Given the description of an element on the screen output the (x, y) to click on. 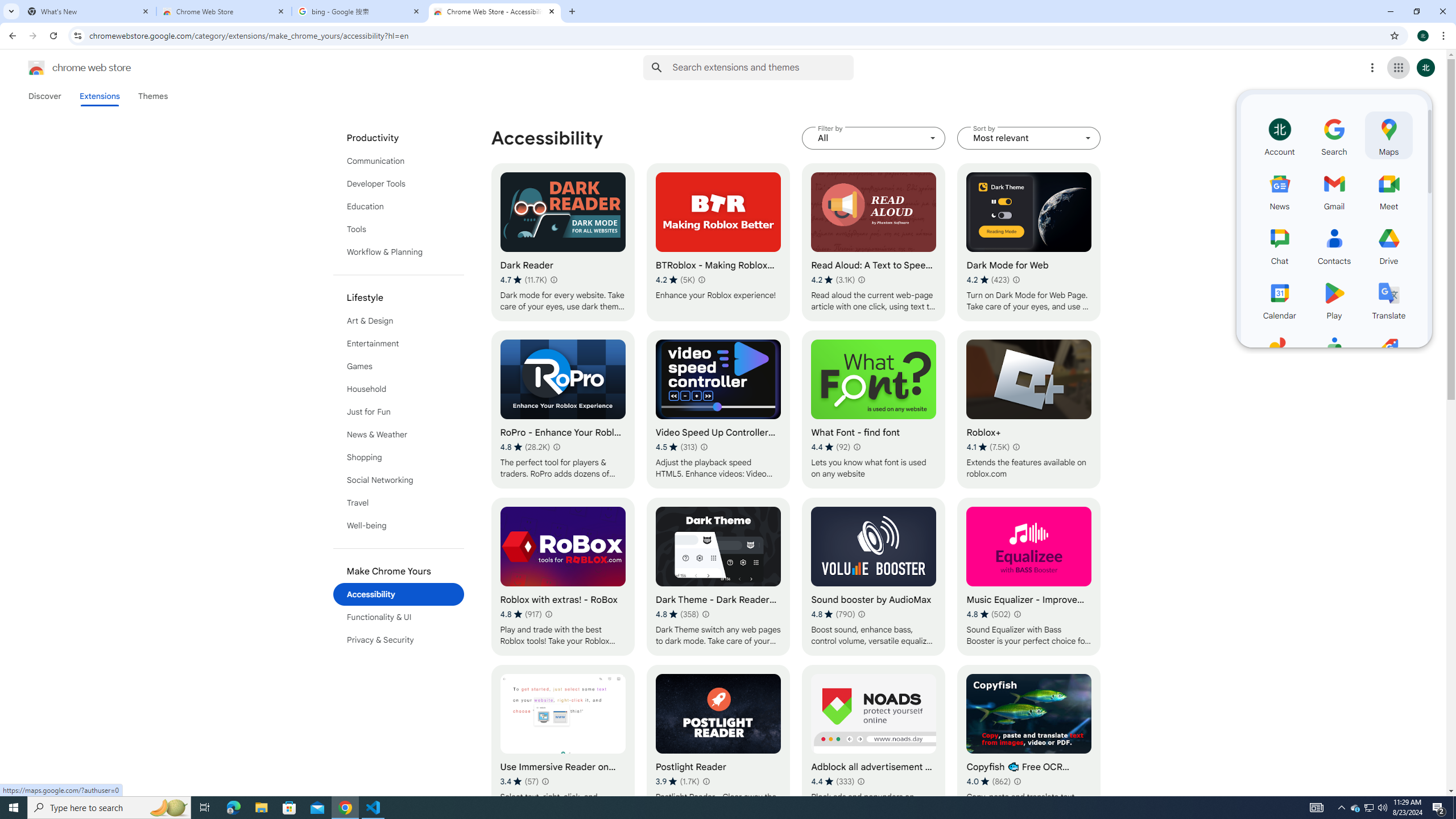
Chrome Web Store logo (36, 67)
Tools (398, 228)
Average rating 4.0 out of 5 stars. 862 ratings. (988, 781)
Developer Tools (398, 182)
Average rating 3.4 out of 5 stars. 57 ratings. (518, 781)
Entertainment (398, 343)
RoPro - Enhance Your Roblox Experience (562, 409)
Average rating 4.4 out of 5 stars. 333 ratings. (832, 781)
Privacy & Security (398, 639)
Learn more about results and reviews "Dark Reader" (553, 279)
Average rating 3.9 out of 5 stars. 1.7K ratings. (676, 781)
Roblox with extras! - RoBox (562, 576)
Shopping (398, 456)
